Given the description of an element on the screen output the (x, y) to click on. 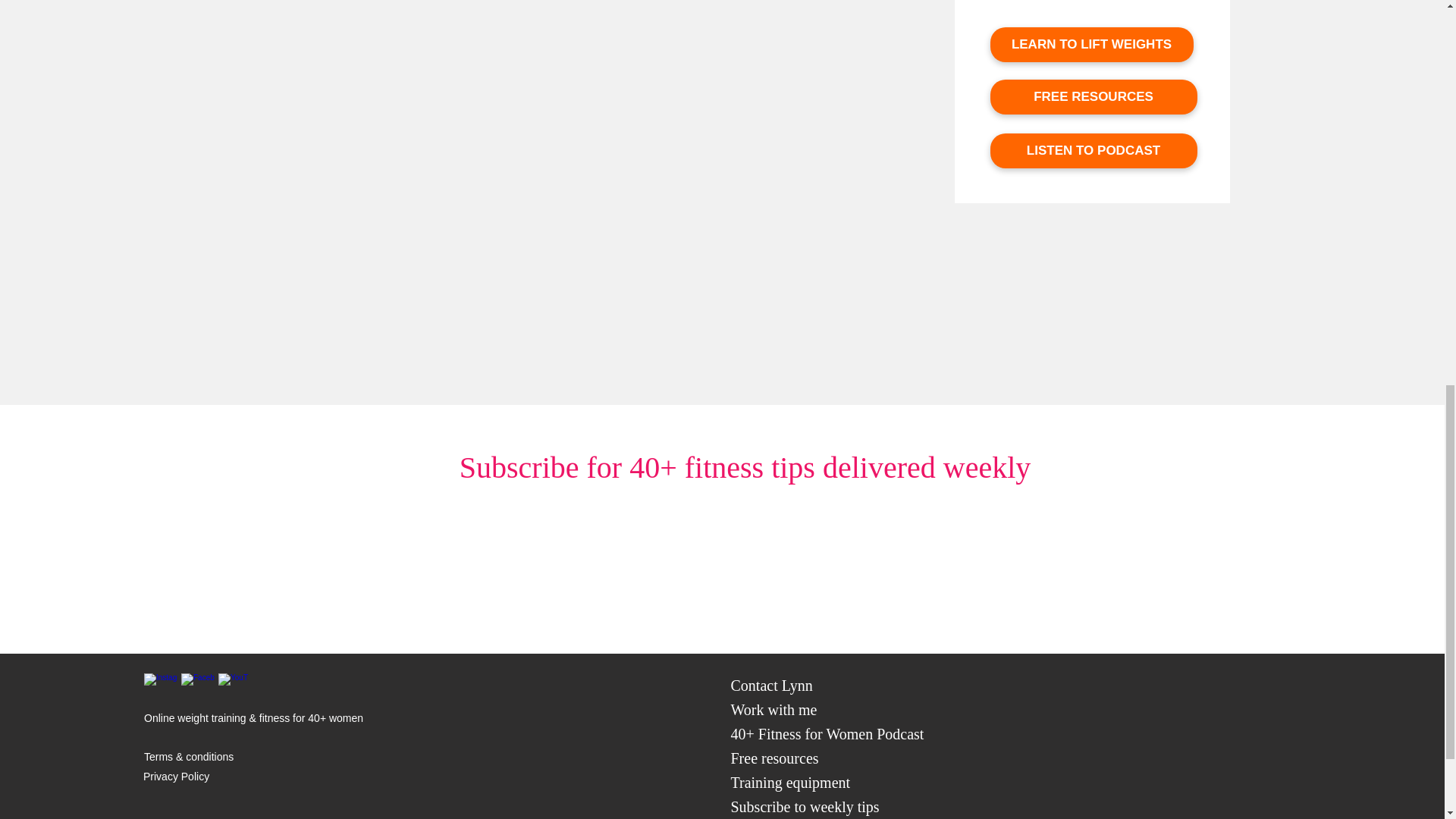
Privacy Policy (175, 776)
FREE RESOURCES (1093, 96)
LEARN TO LIFT WEIGHTS (1091, 44)
Subscribe to weekly tips (804, 806)
Work with me (773, 709)
Training equipment (790, 782)
Contact Lynn (771, 685)
LISTEN TO PODCAST (1093, 150)
Free resources (774, 758)
